Given the description of an element on the screen output the (x, y) to click on. 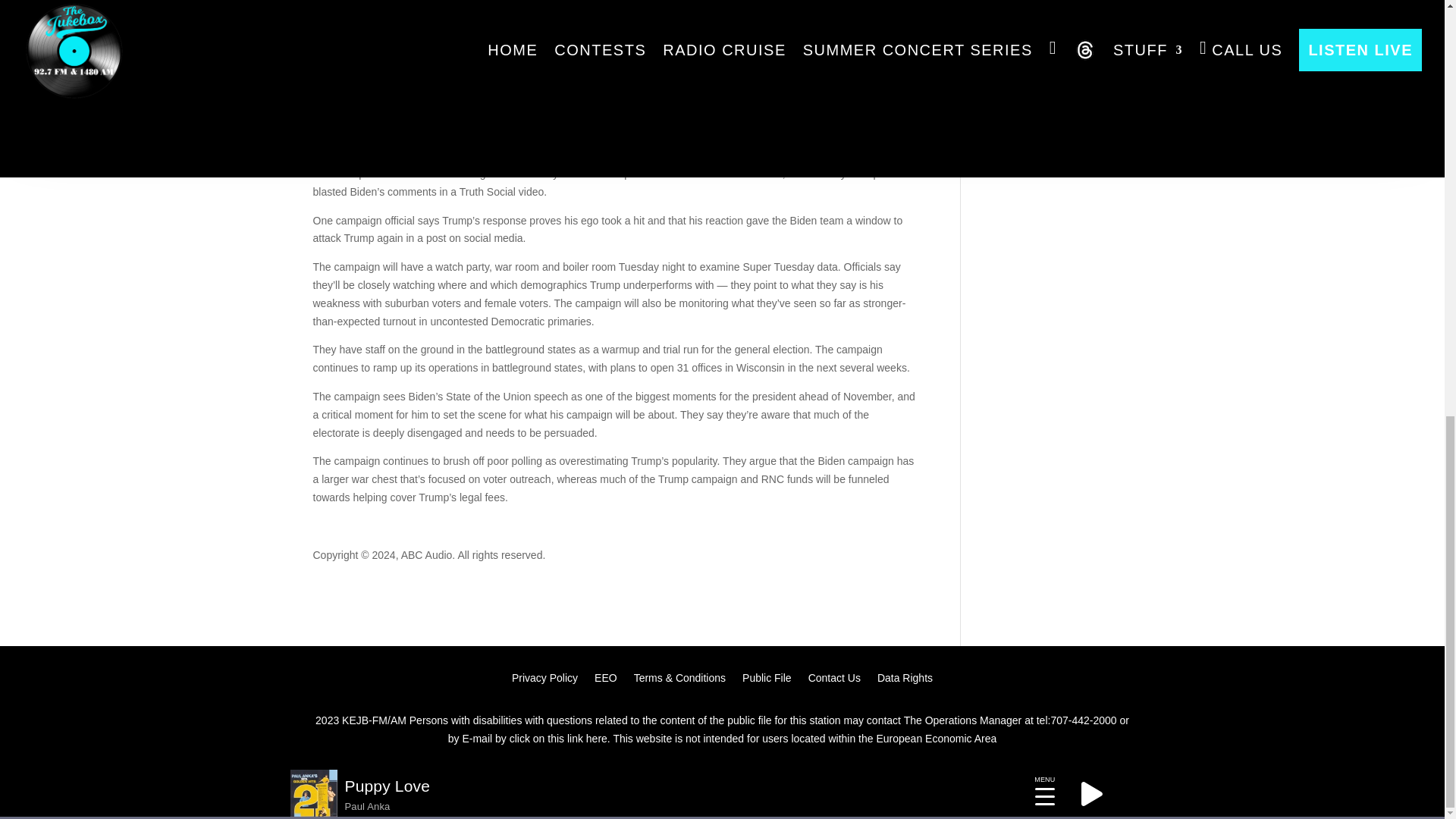
Privacy Policy (545, 680)
EEO (605, 680)
